Given the description of an element on the screen output the (x, y) to click on. 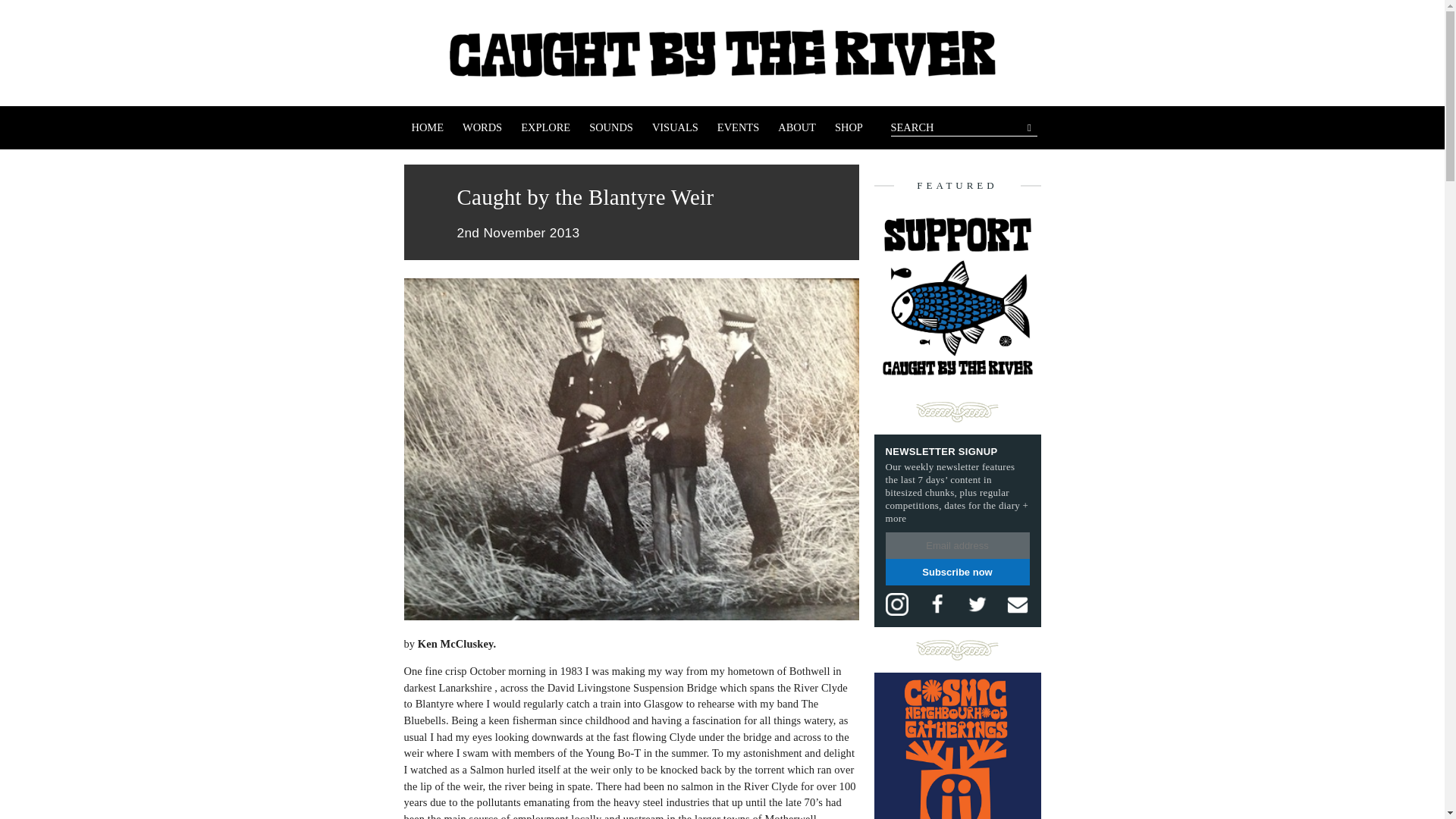
Follow us on Instagram (896, 603)
Find us on Facebook (937, 603)
Email usk (1017, 603)
EVENTS (738, 127)
VISUALS (675, 127)
ABOUT (797, 127)
SHOP (848, 127)
Follow us on Twitter (977, 603)
HOME (427, 127)
Subscribe now (957, 571)
SOUNDS (610, 127)
EXPLORE (545, 127)
WORDS (481, 127)
